Given the description of an element on the screen output the (x, y) to click on. 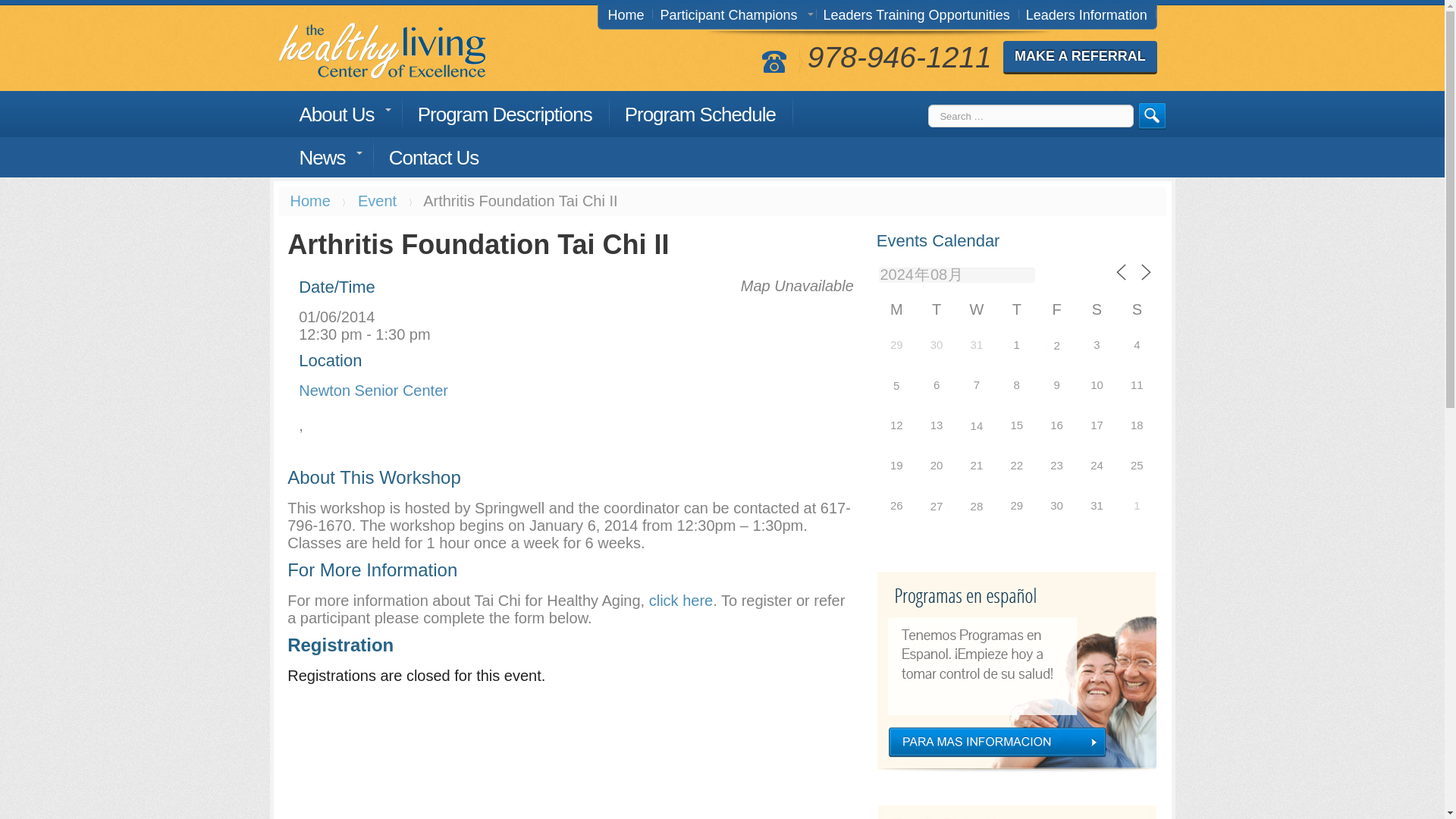
A Matter of Balance (895, 385)
Permalink to Arthritis Foundation Tai Chi II (477, 244)
Search (1151, 115)
Program Schedule (707, 112)
14 (975, 426)
click here (681, 600)
Newton Senior Center (373, 390)
A Matter of Balance (936, 506)
Leaders Training Opportunities (920, 13)
2 (1056, 345)
